Given the description of an element on the screen output the (x, y) to click on. 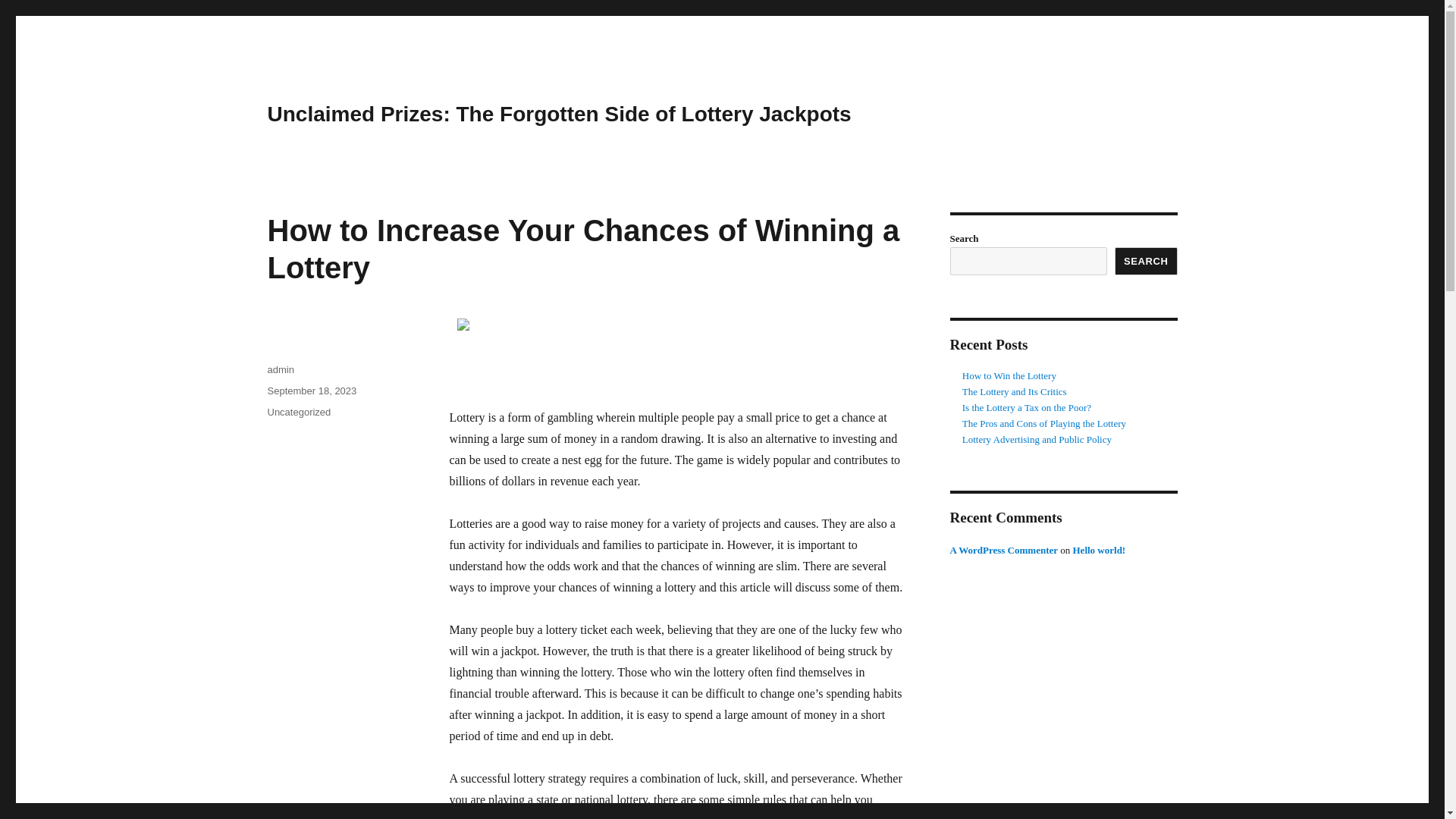
Is the Lottery a Tax on the Poor? (1026, 407)
Unclaimed Prizes: The Forgotten Side of Lottery Jackpots (558, 114)
The Pros and Cons of Playing the Lottery (1043, 423)
Lottery Advertising and Public Policy (1037, 439)
A WordPress Commenter (1003, 550)
SEARCH (1146, 261)
Hello world! (1098, 550)
September 18, 2023 (311, 390)
How to Win the Lottery (1009, 375)
The Lottery and Its Critics (1014, 391)
